Given the description of an element on the screen output the (x, y) to click on. 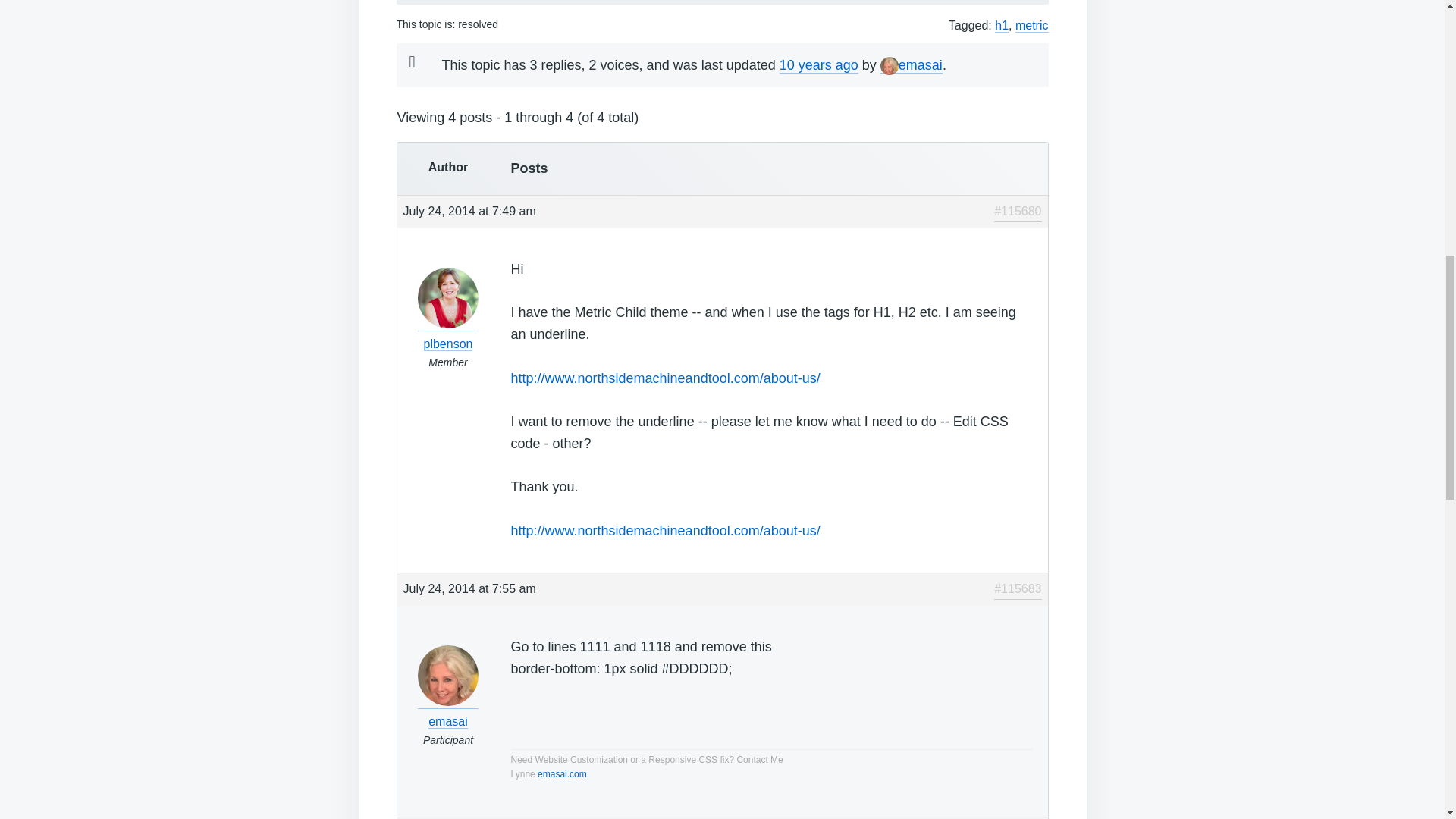
View emasai's profile (911, 65)
emasai (448, 711)
View emasai's profile (448, 711)
View plbenson's profile (448, 334)
10 years ago (818, 65)
emasai (911, 65)
plbenson (448, 334)
h1 (1001, 25)
metric (1031, 25)
